Given the description of an element on the screen output the (x, y) to click on. 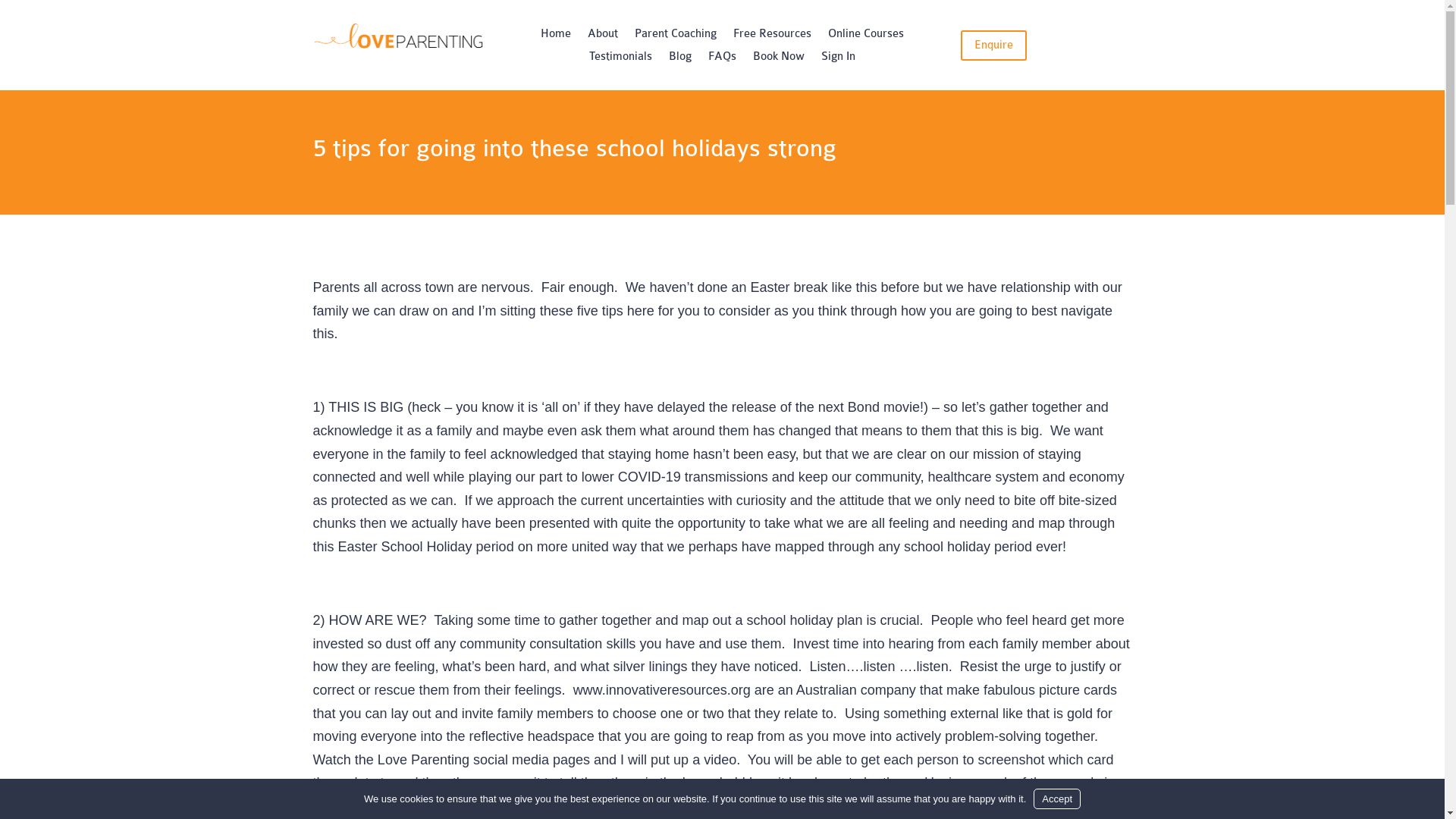
FAQs Element type: text (722, 59)
Testimonials Element type: text (620, 59)
Blog Element type: text (679, 59)
Book Now Element type: text (778, 59)
Love Parenting Newcastle Element type: hover (397, 37)
Online Courses Element type: text (865, 36)
Accept Element type: text (1056, 798)
Parent Coaching Element type: text (675, 36)
Sign In Element type: text (838, 59)
Enquire Element type: text (993, 45)
Free Resources Element type: text (772, 36)
Home Element type: text (555, 36)
About Element type: text (602, 36)
